Given the description of an element on the screen output the (x, y) to click on. 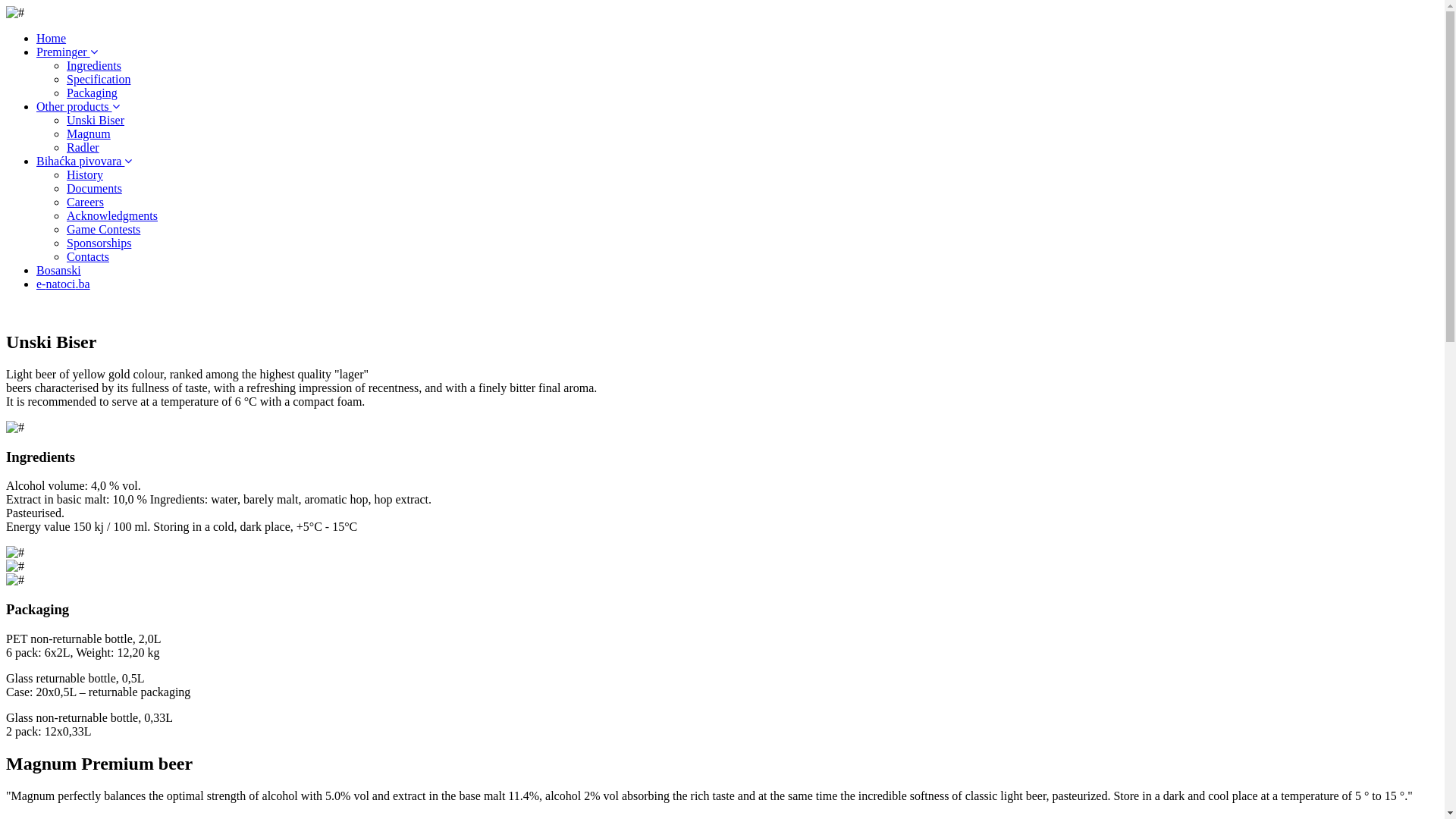
# Element type: hover (15, 566)
Ingredients Element type: text (93, 65)
Other products Element type: text (77, 106)
# Element type: hover (15, 12)
History Element type: text (84, 174)
Contacts Element type: text (87, 256)
Magnum Element type: text (88, 133)
Preminger Element type: text (66, 51)
# Element type: hover (15, 552)
Bosanski Element type: text (58, 269)
e-natoci.ba Element type: text (63, 283)
Game Contests Element type: text (103, 228)
Packaging Element type: text (91, 92)
Documents Element type: text (94, 188)
Sponsorships Element type: text (98, 242)
# Element type: hover (15, 579)
Unski Biser Element type: text (95, 119)
Acknowledgments Element type: text (111, 215)
Radler Element type: text (82, 147)
Careers Element type: text (84, 201)
Specification Element type: text (98, 78)
Home Element type: text (50, 37)
